Given the description of an element on the screen output the (x, y) to click on. 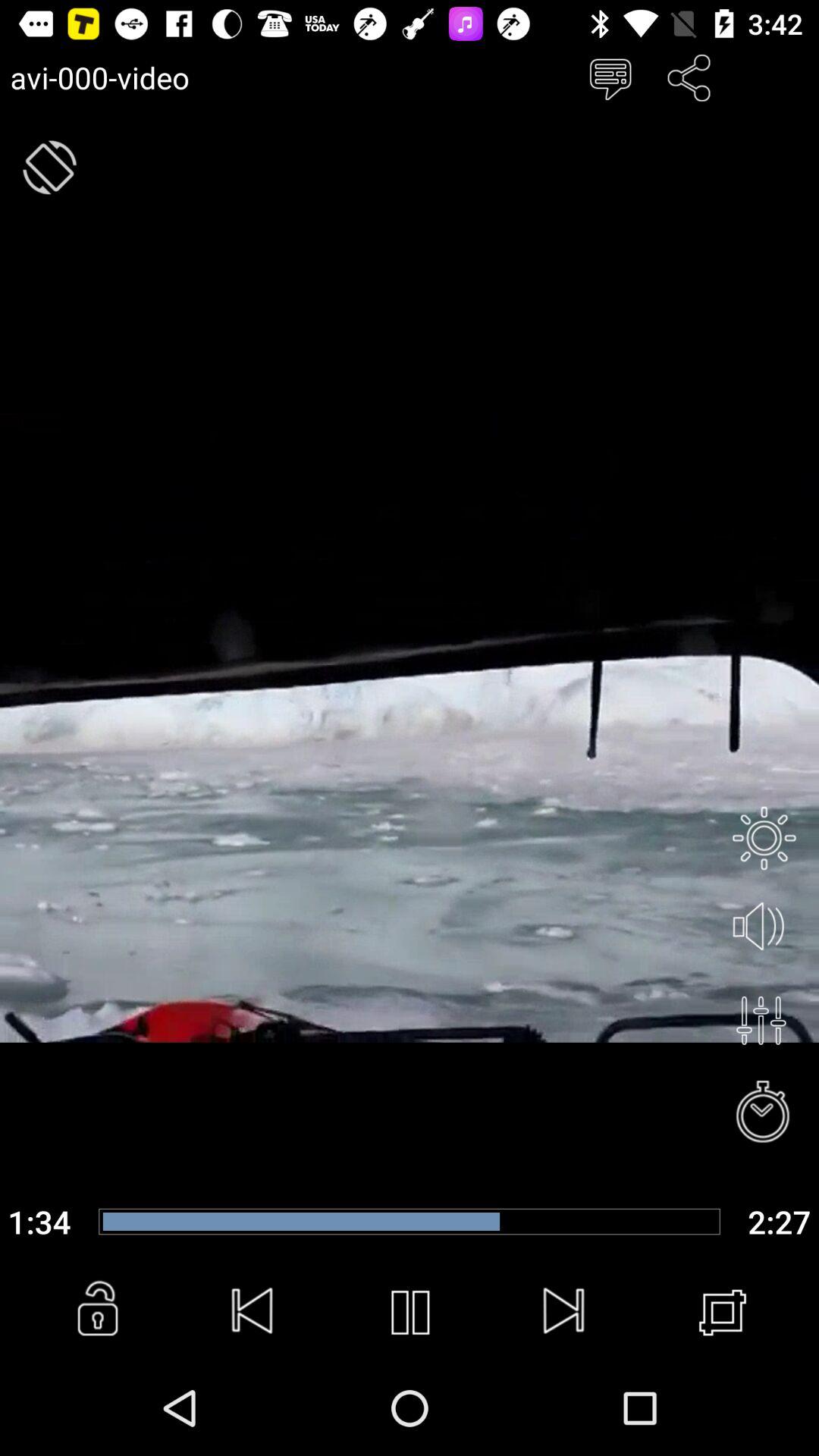
go to next (565, 1312)
